Given the description of an element on the screen output the (x, y) to click on. 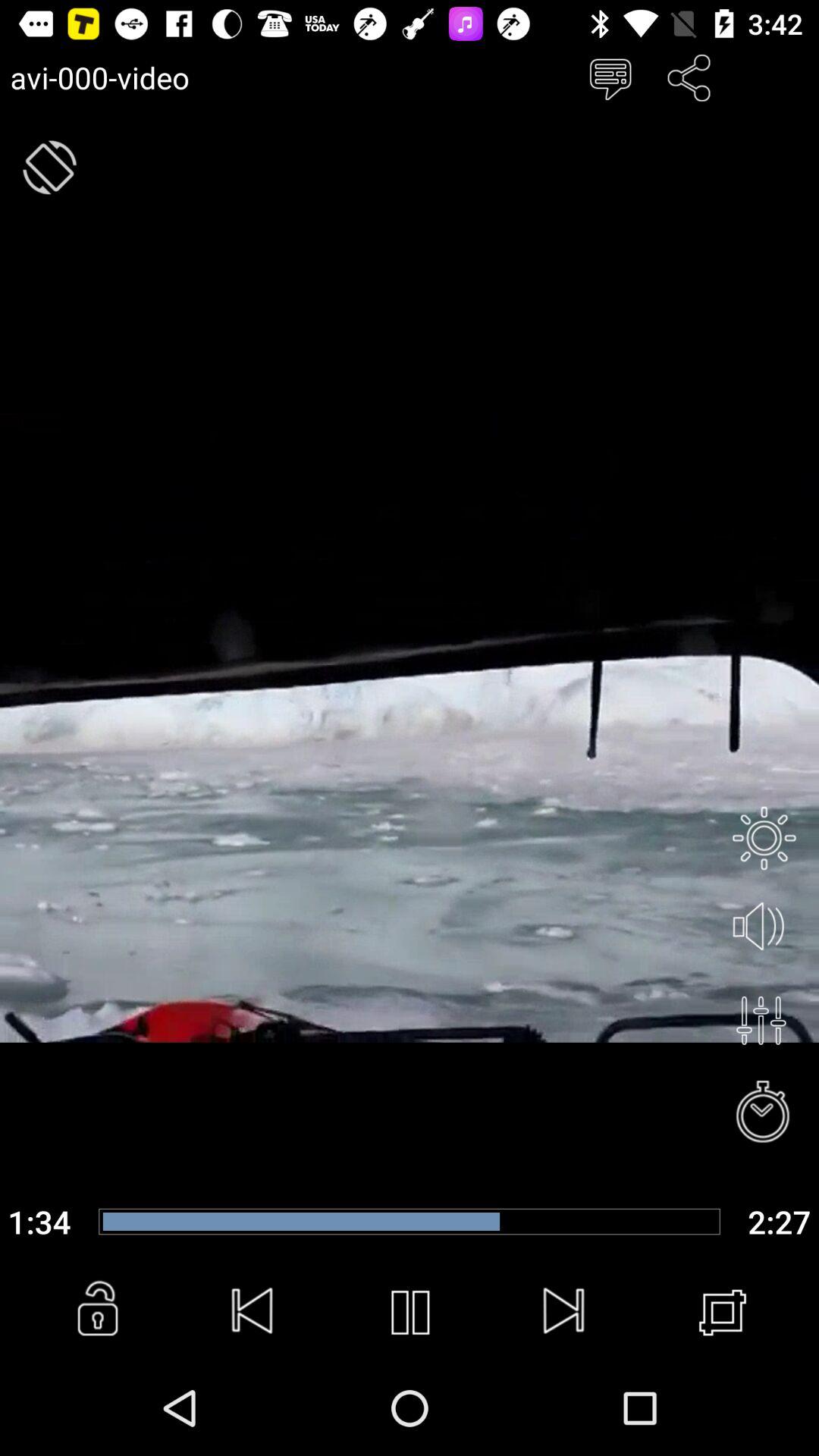
go to next (565, 1312)
